Given the description of an element on the screen output the (x, y) to click on. 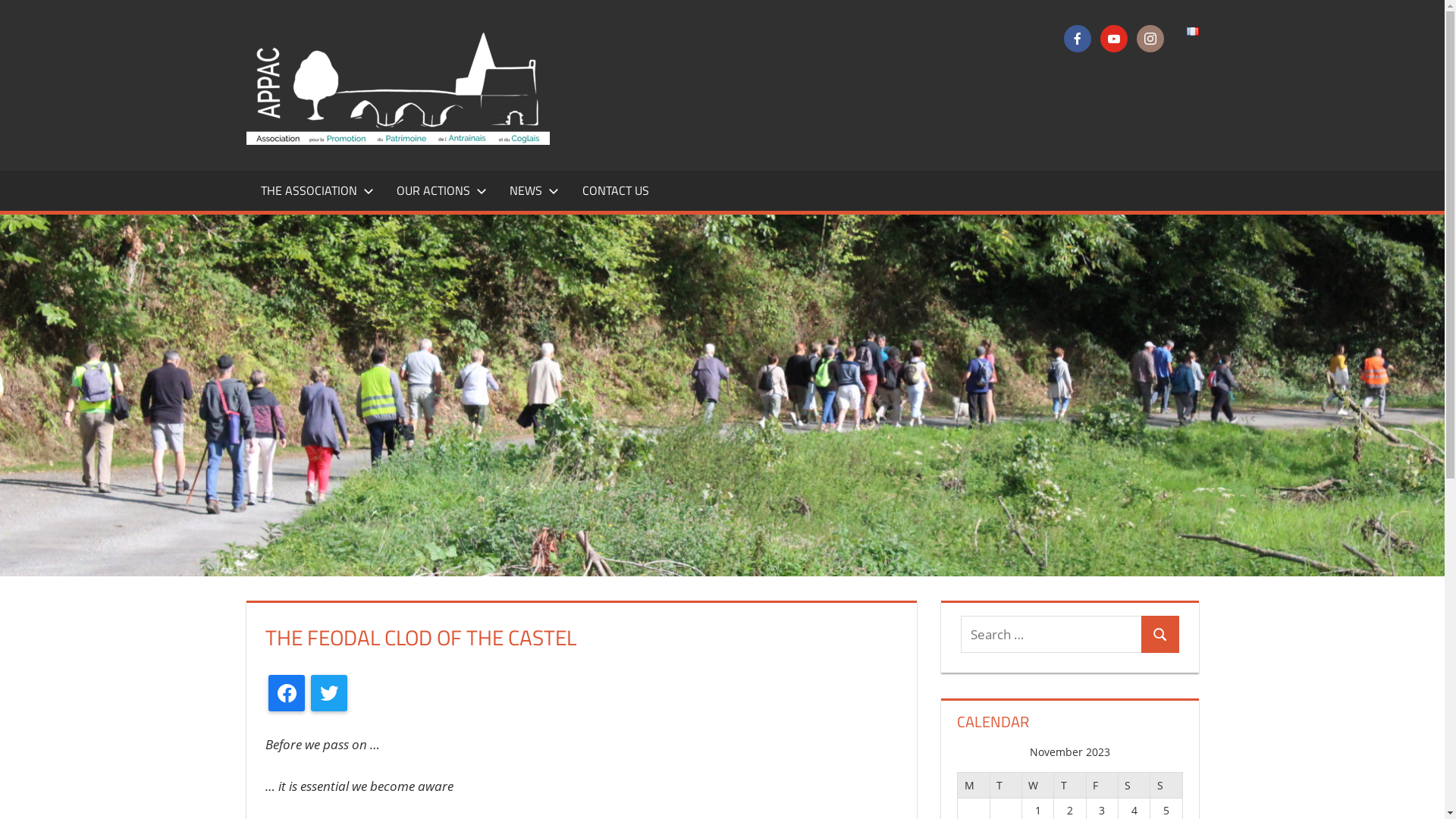
Share this article on Facebook Element type: hover (286, 692)
APPAC Element type: text (601, 48)
Search for: Element type: hover (1051, 633)
Search Element type: text (1160, 633)
Skip to content Element type: text (0, 0)
CONTACT US Element type: text (615, 189)
Share this article on Twitter Element type: hover (328, 692)
NEWS Element type: text (531, 189)
OUR ACTIONS Element type: text (438, 189)
THE ASSOCIATION Element type: text (313, 189)
